Given the description of an element on the screen output the (x, y) to click on. 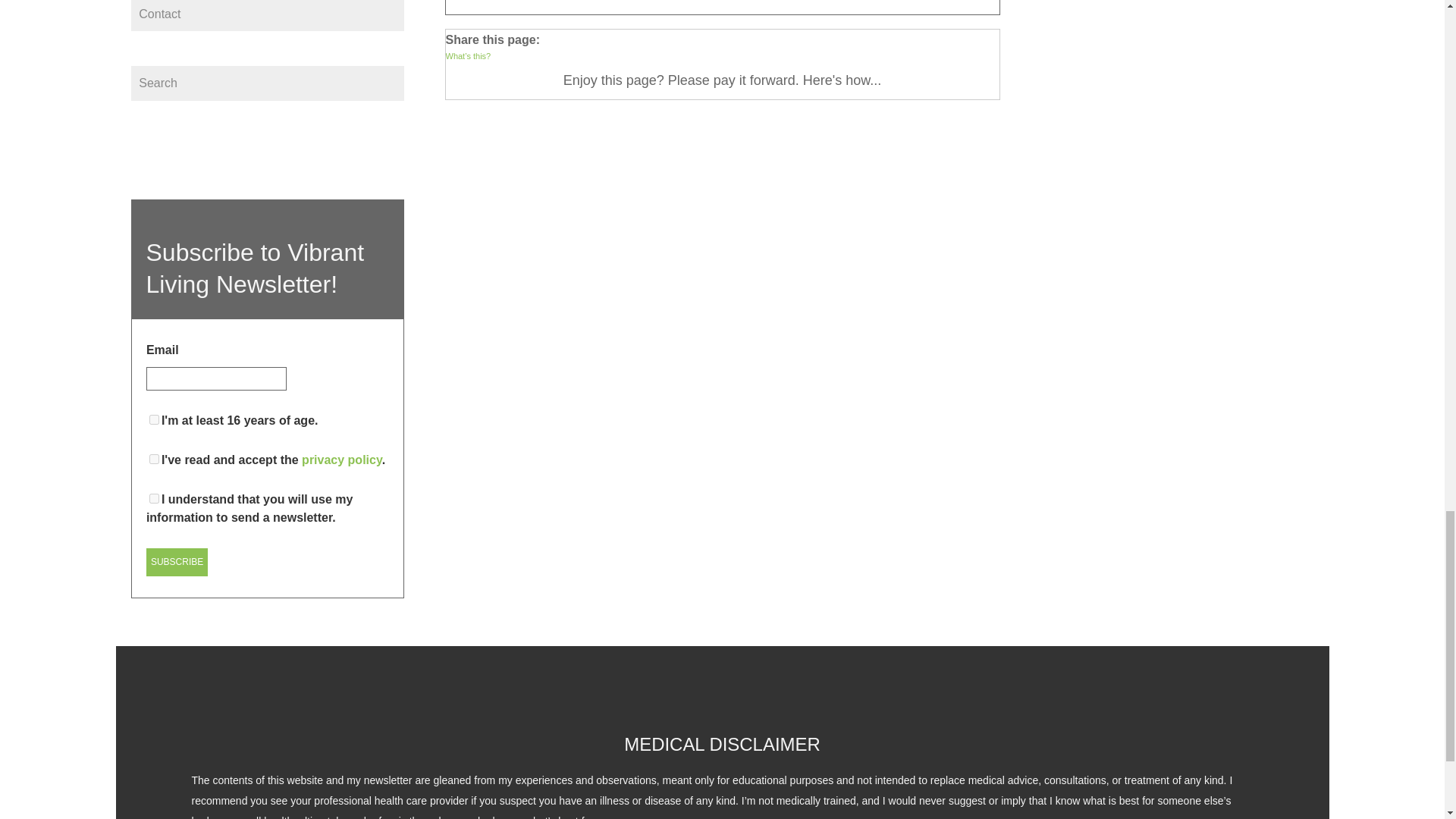
on (153, 498)
on (153, 459)
on (153, 419)
